Given the description of an element on the screen output the (x, y) to click on. 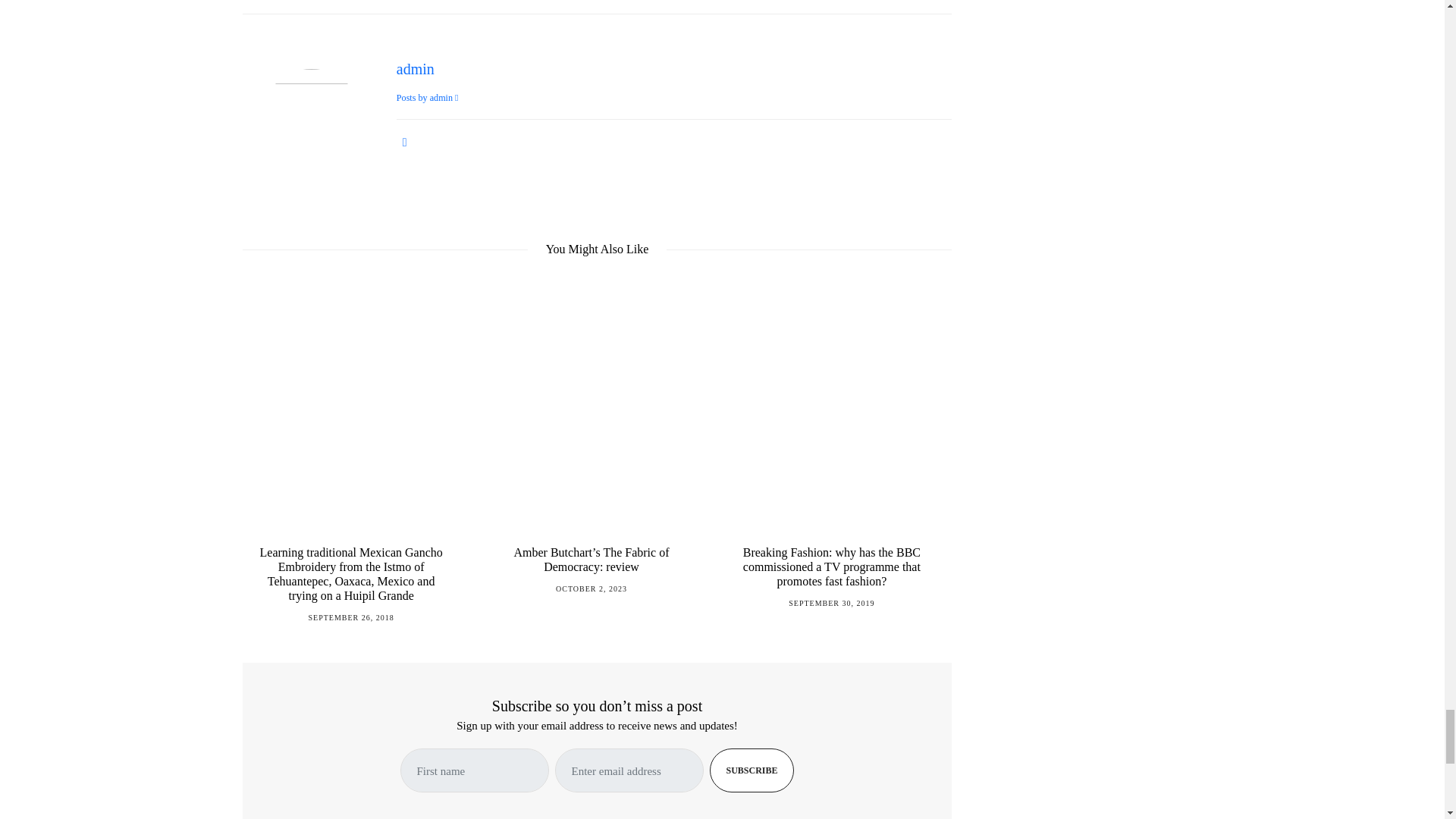
Subscribe (751, 770)
